Given the description of an element on the screen output the (x, y) to click on. 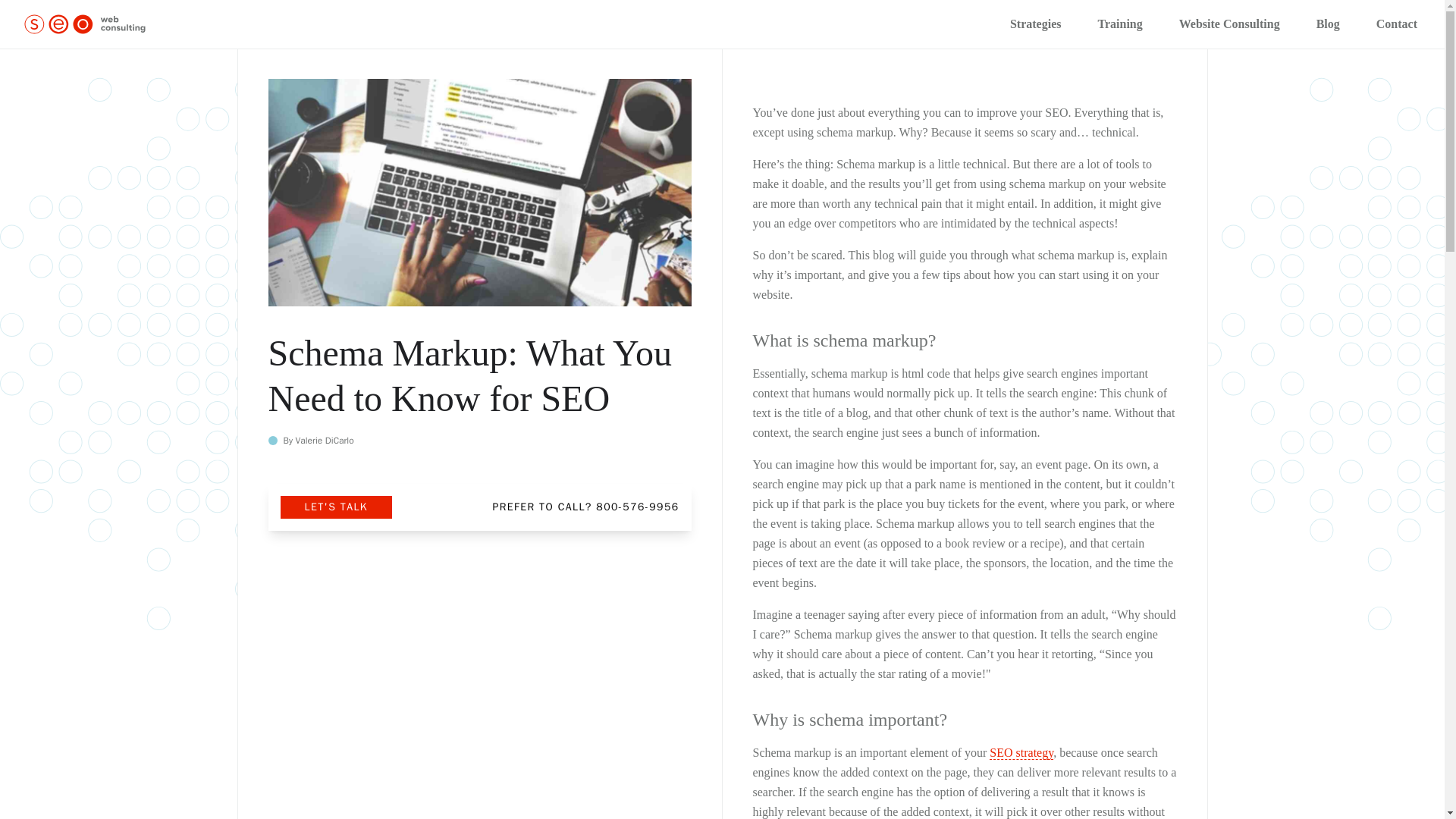
Contact (1397, 24)
SEO strategy (1021, 753)
Website Consulting (1229, 24)
800-576-9956 (636, 506)
Training (1119, 24)
Strategies (1035, 24)
LET'S TALK (336, 507)
